Given the description of an element on the screen output the (x, y) to click on. 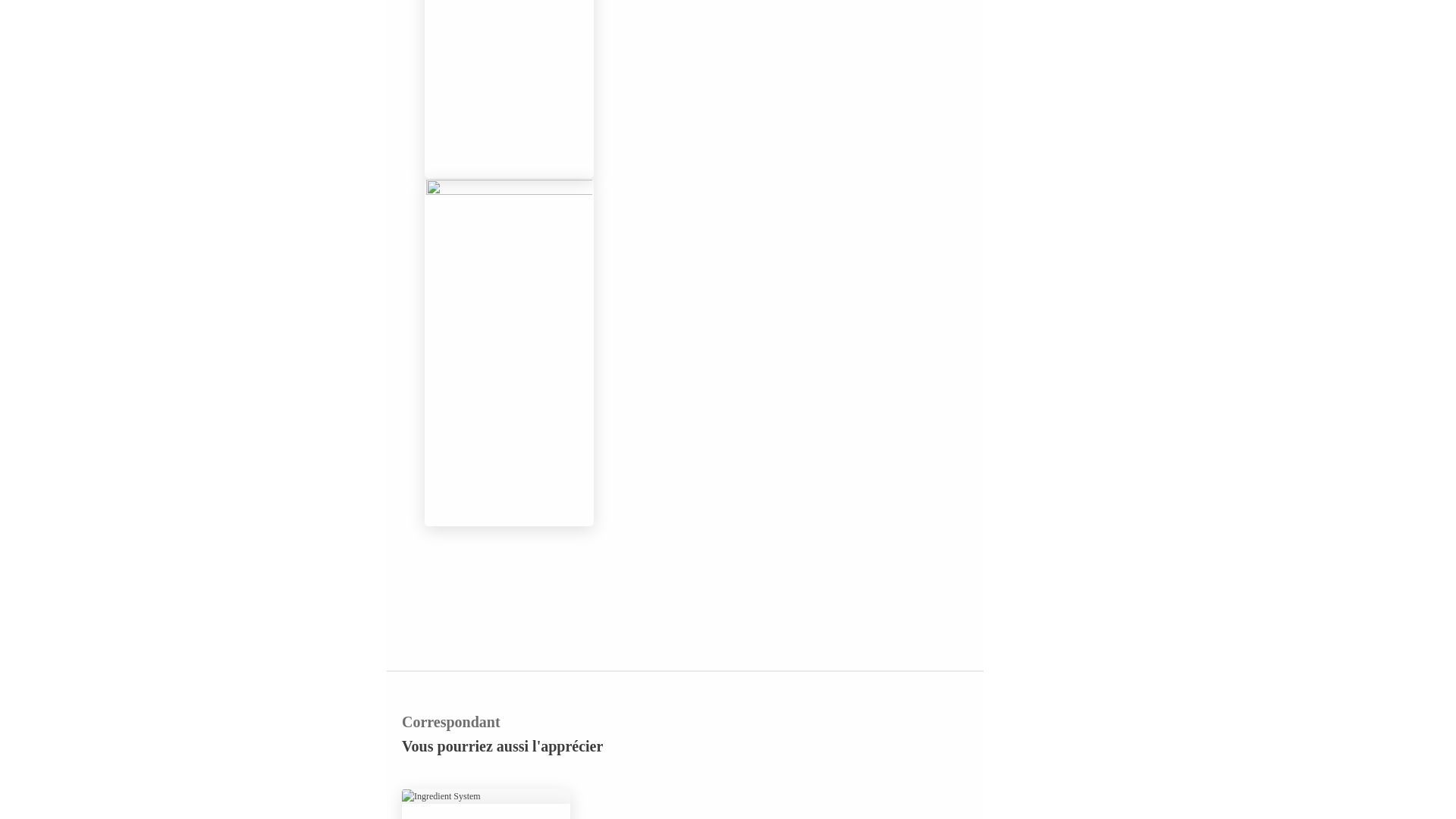
Ingredient System (485, 796)
